Given the description of an element on the screen output the (x, y) to click on. 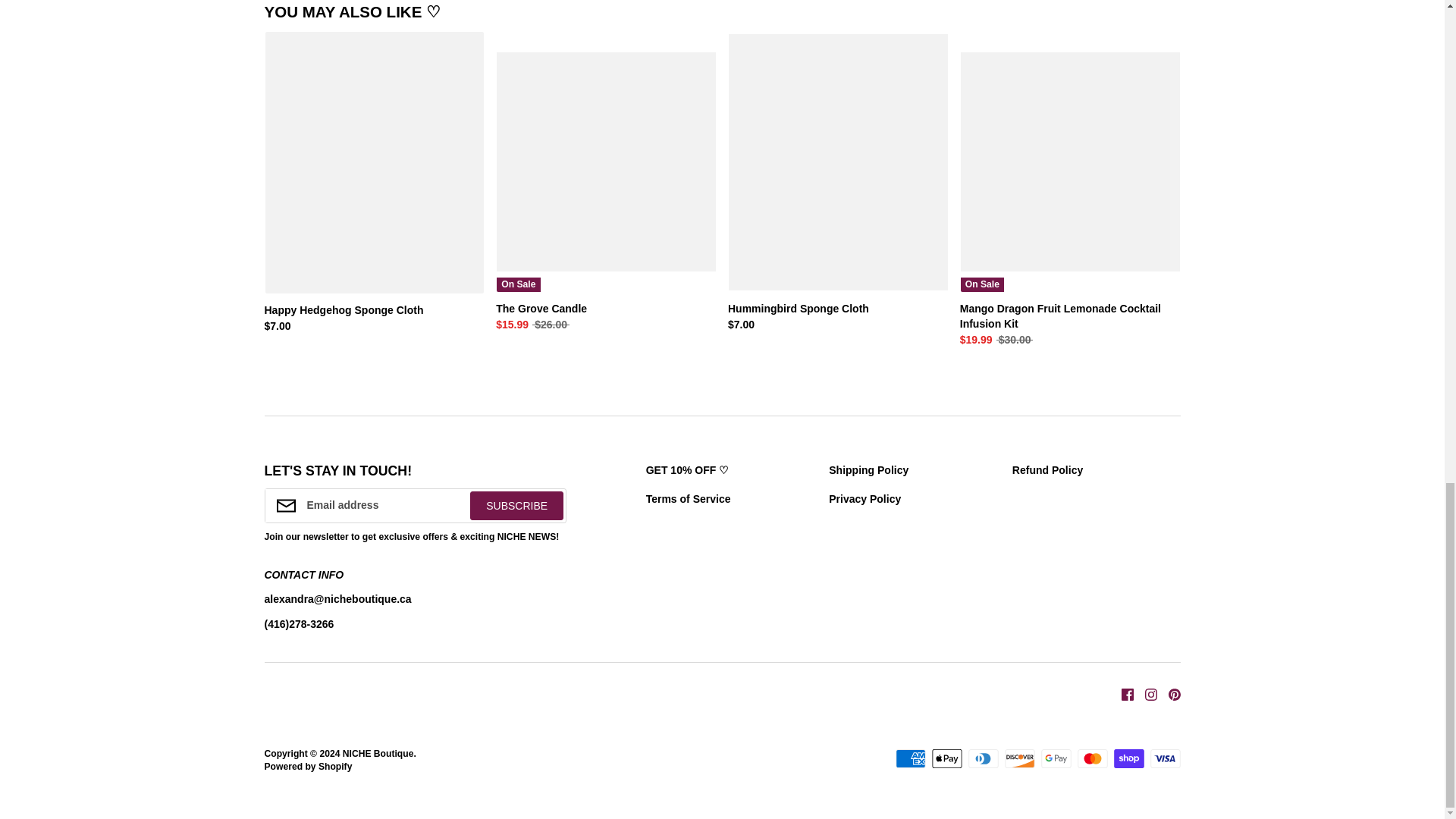
Visa (1164, 758)
Google Pay (1056, 758)
American Express (910, 758)
Discover (1019, 758)
Mastercard (1092, 758)
Shop Pay (1128, 758)
Diners Club (983, 758)
Apple Pay (946, 758)
